Given the description of an element on the screen output the (x, y) to click on. 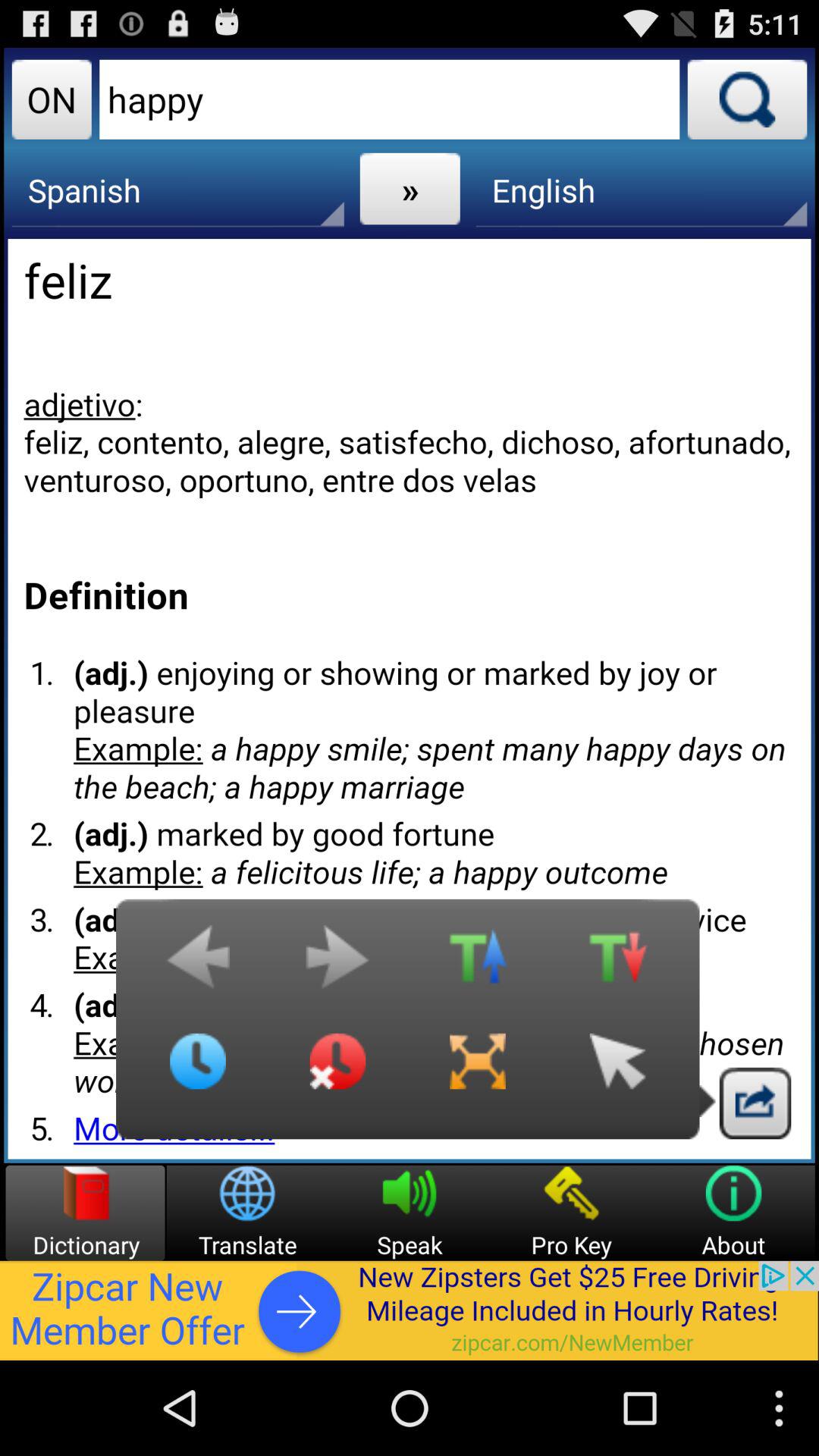
toggle time option (197, 1073)
